Given the description of an element on the screen output the (x, y) to click on. 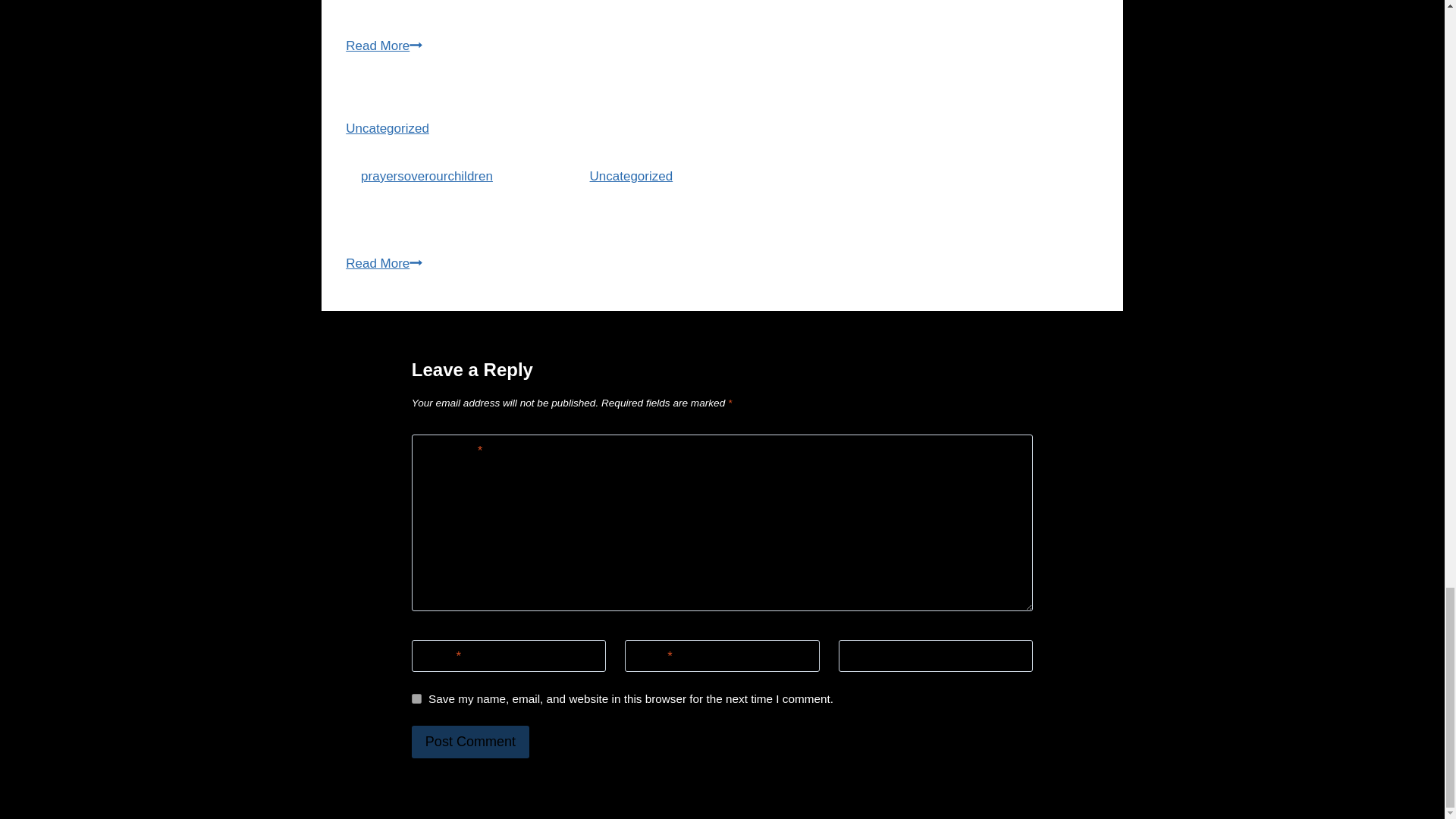
Post Comment (470, 741)
yes (417, 698)
